Given the description of an element on the screen output the (x, y) to click on. 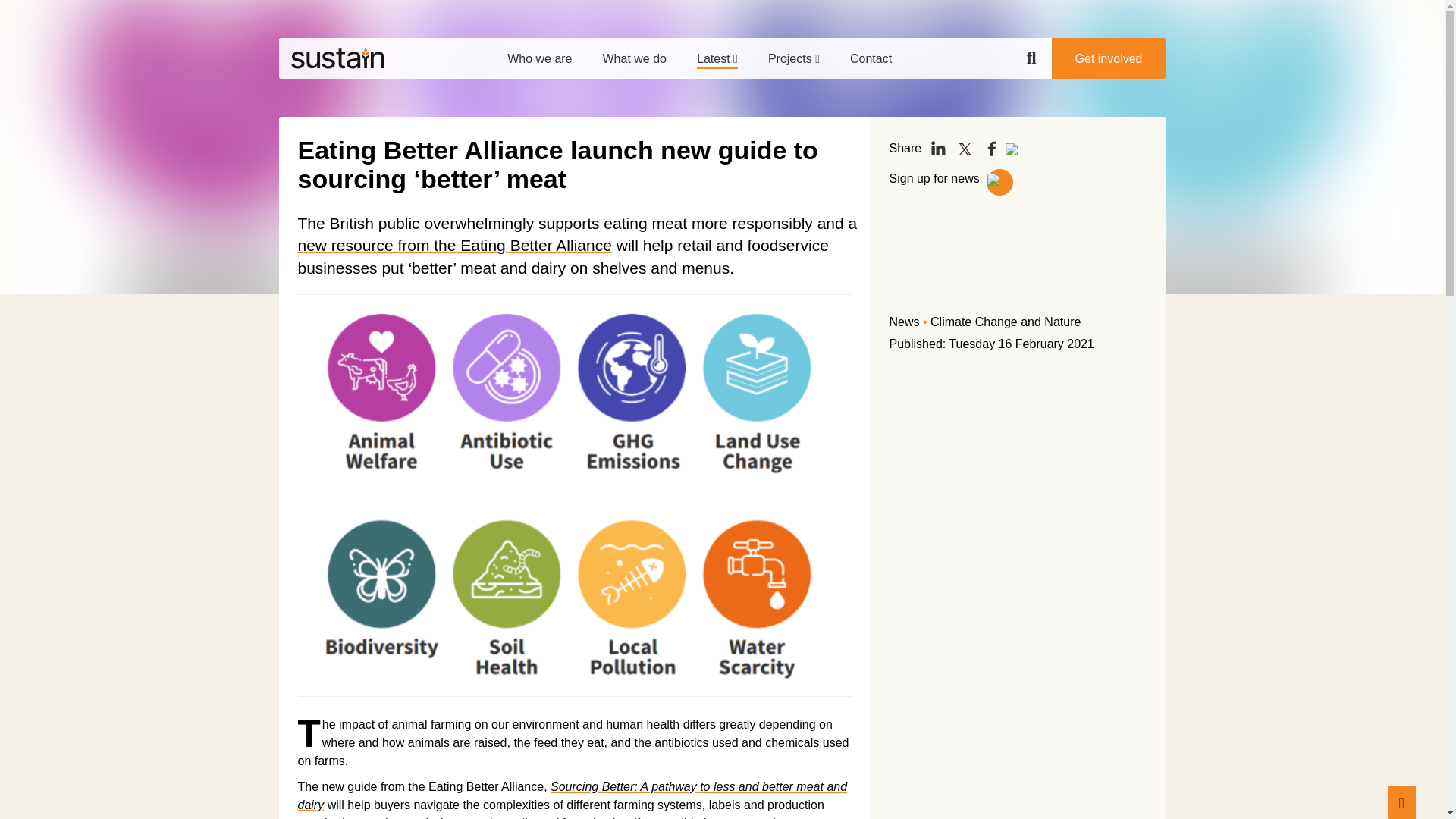
Latest (717, 52)
Share link (1017, 151)
What we do (634, 52)
Facebook (991, 148)
News (903, 321)
Climate Change and Nature (1005, 321)
Get updates (1000, 181)
LinkedIn (938, 148)
new resource from the Eating Better Alliance (454, 244)
Contact (870, 52)
